Given the description of an element on the screen output the (x, y) to click on. 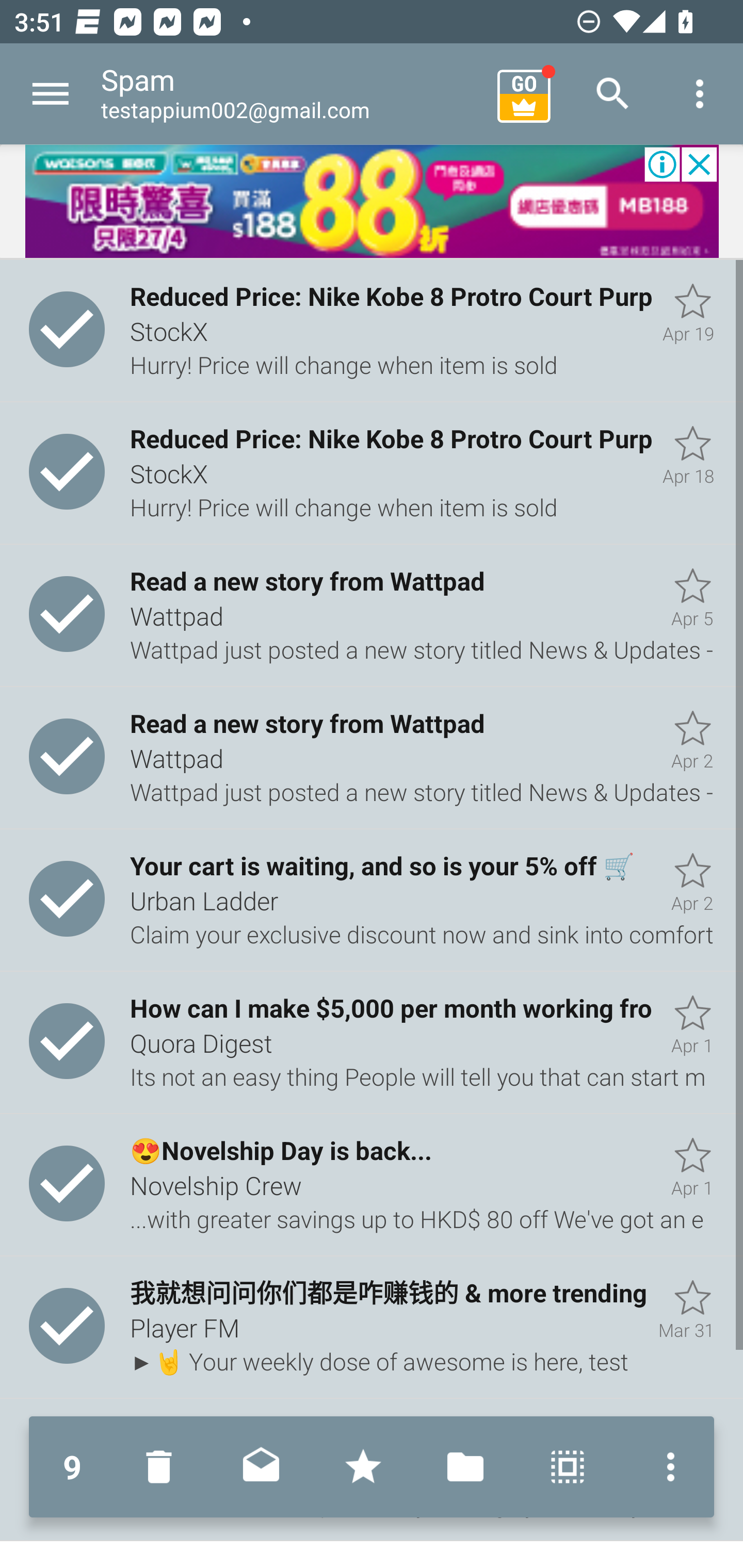
Navigate up (50, 93)
Spam testappium002@gmail.com (291, 93)
Search (612, 93)
More options (699, 93)
Advertisement (371, 202)
9 9 messages (71, 1466)
Move to Deleted (162, 1466)
Mark read (261, 1466)
Mark with stars (363, 1466)
Move to folder… (465, 1466)
Select all (567, 1466)
More options (666, 1466)
